Given the description of an element on the screen output the (x, y) to click on. 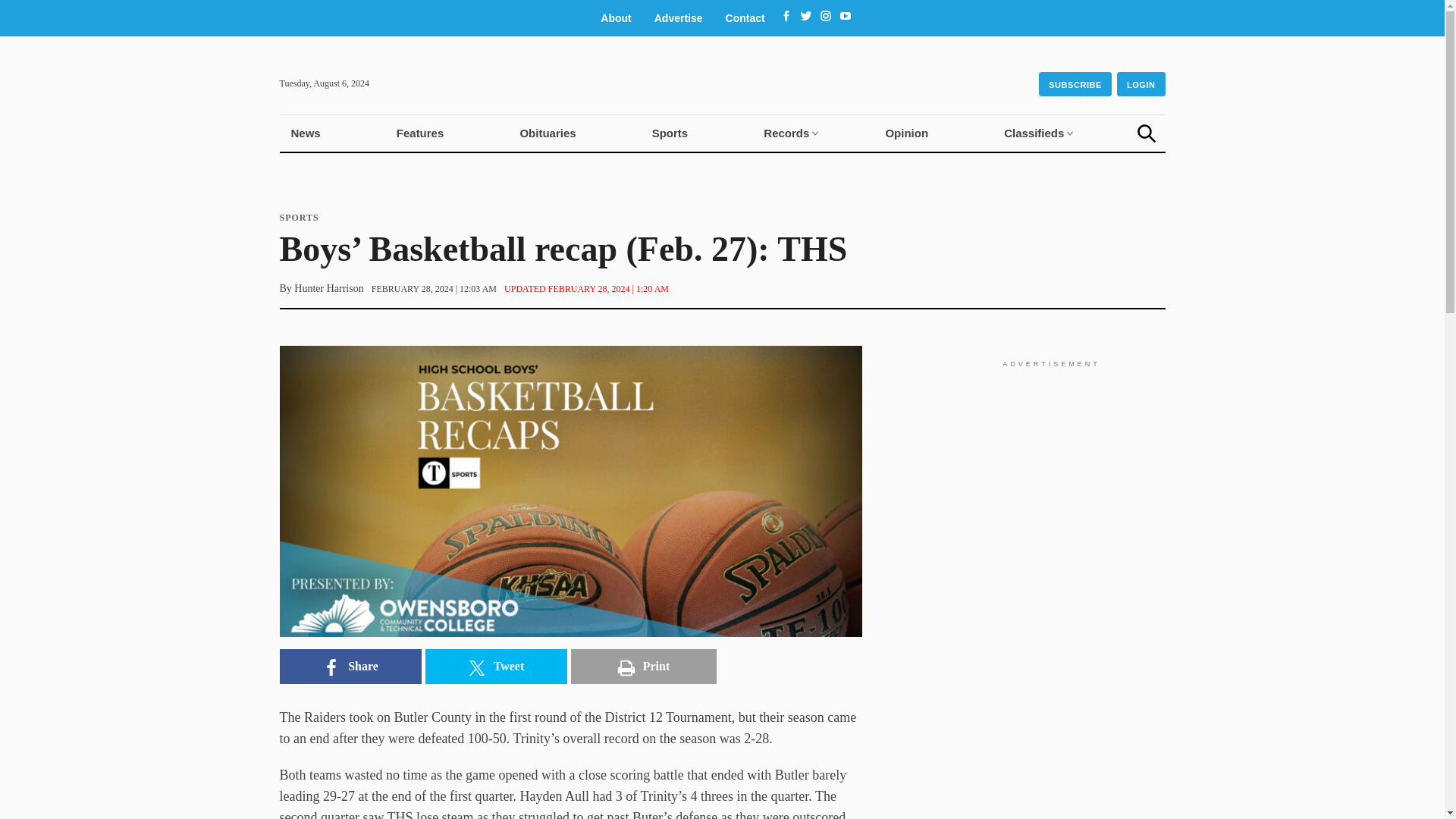
News (305, 133)
Opinion (906, 133)
Features (420, 133)
Print this Page (643, 666)
Search (1146, 133)
Records (786, 133)
Sports (670, 133)
SUBSCRIBE (1075, 83)
SUBSCRIBE (1075, 84)
LOGIN (1141, 84)
Classifieds (1033, 133)
LOGIN (1141, 83)
Contact (745, 18)
Advertise (678, 18)
About (615, 18)
